Given the description of an element on the screen output the (x, y) to click on. 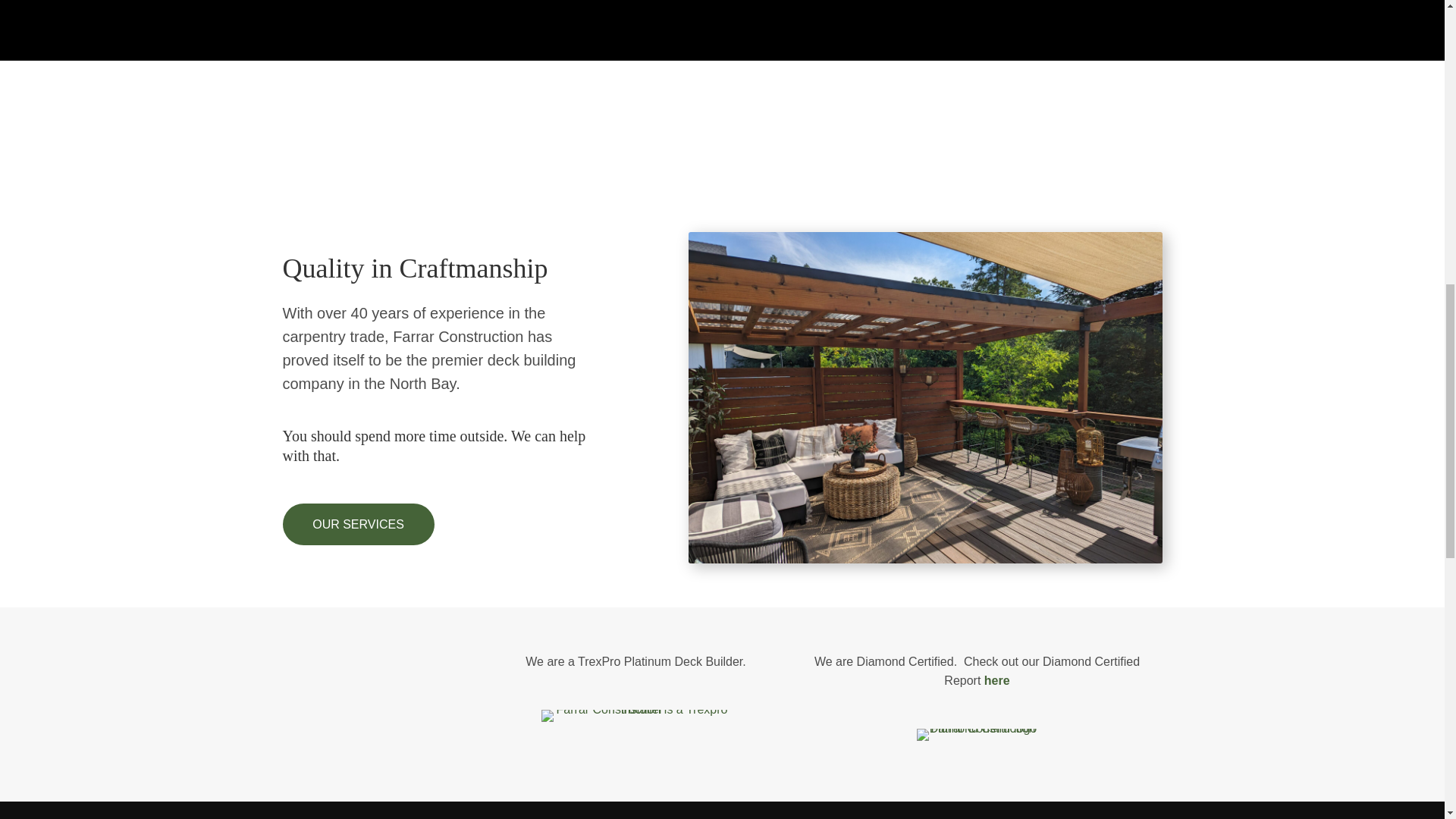
OUR SERVICES (357, 524)
here (997, 680)
trexpro-logo-farrar-construction (635, 715)
Farrar Construction Diamond Certif logo (975, 734)
